Given the description of an element on the screen output the (x, y) to click on. 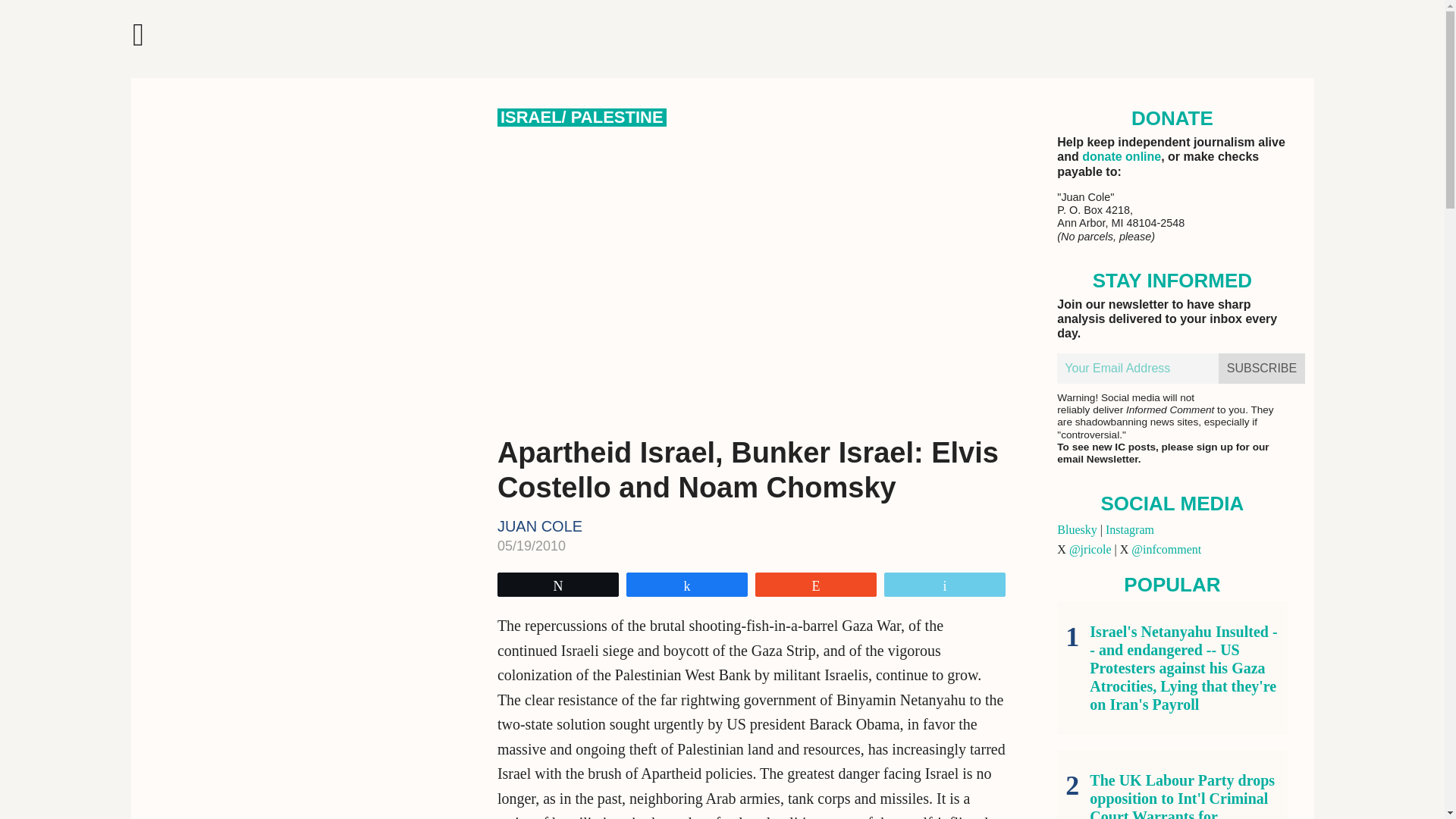
subscribe (1262, 368)
JUAN COLE (539, 525)
donate online (1120, 155)
